Given the description of an element on the screen output the (x, y) to click on. 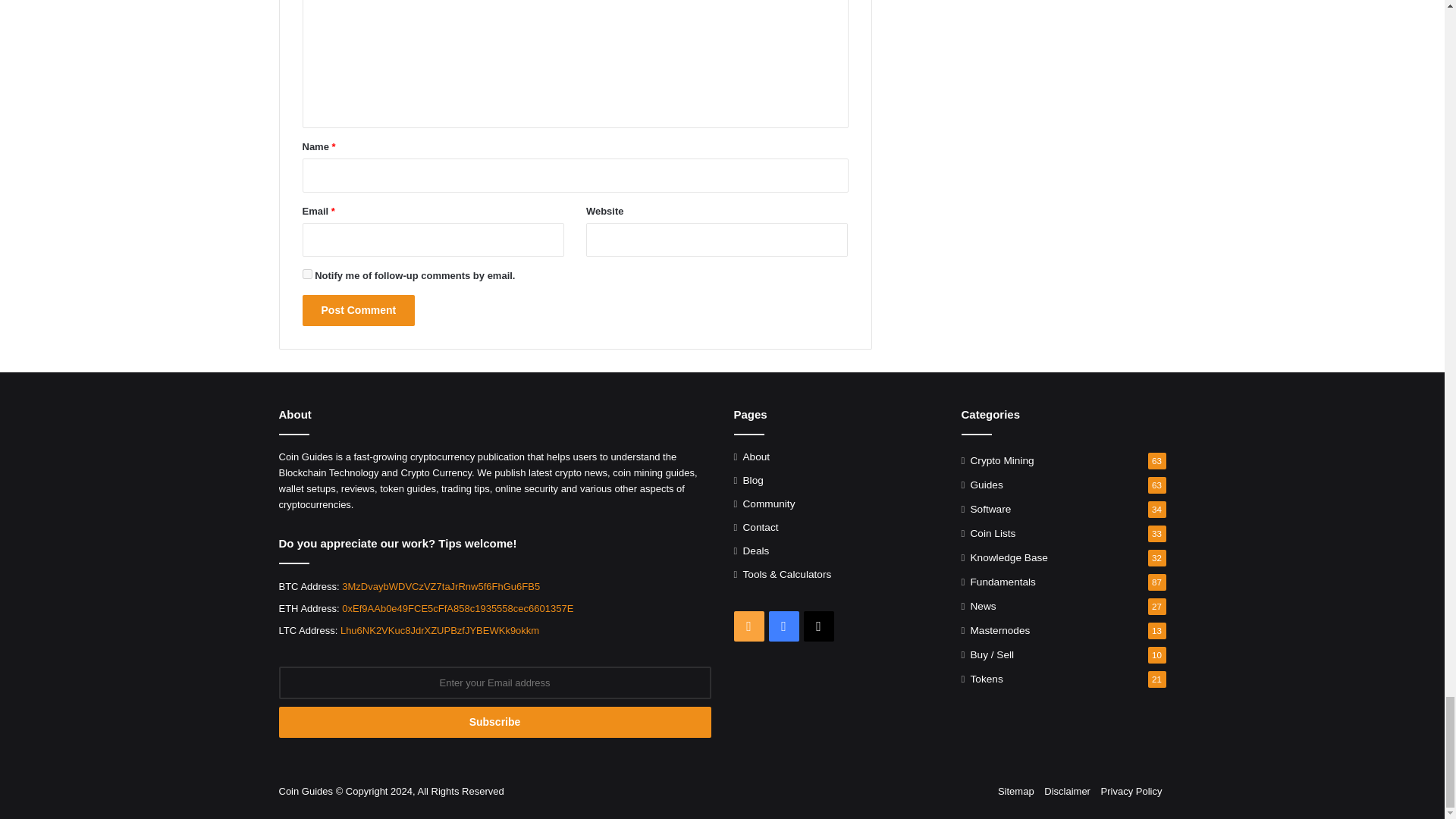
subscribe (306, 274)
Post Comment (357, 309)
Subscribe (495, 721)
